Given the description of an element on the screen output the (x, y) to click on. 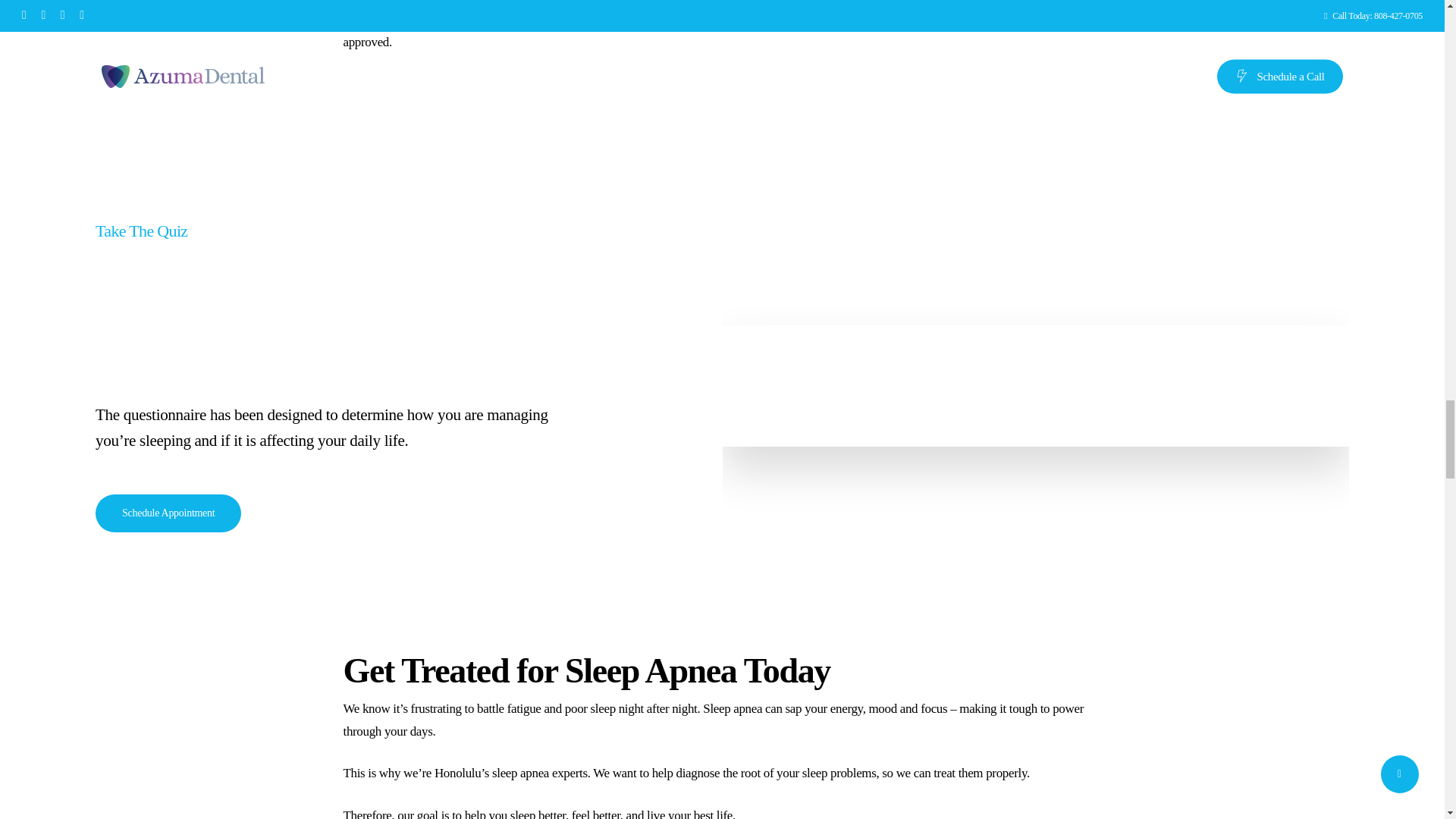
Adult sleep apnea Survey (1035, 381)
